Given the description of an element on the screen output the (x, y) to click on. 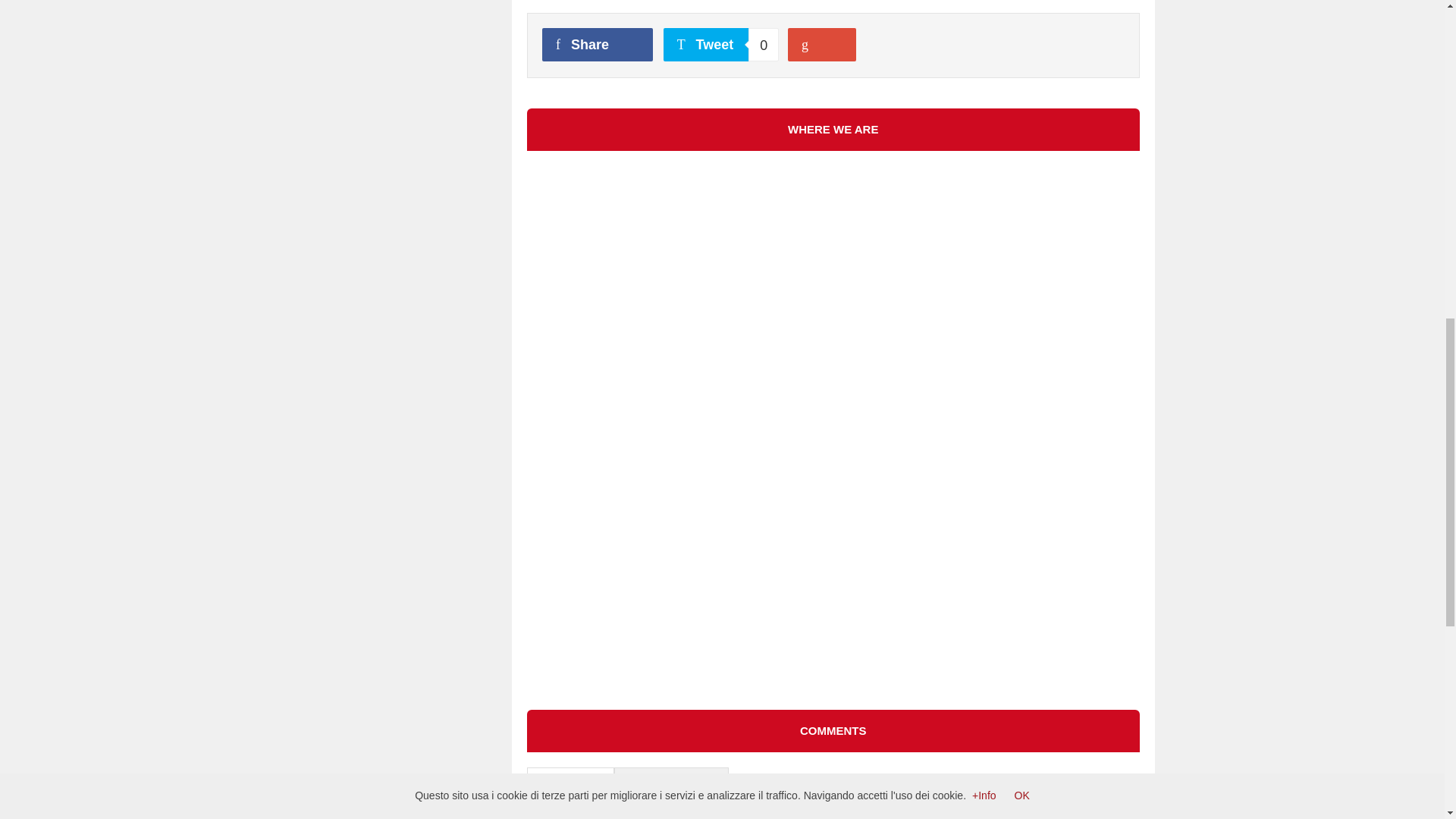
Advertisement (49, 48)
